Given the description of an element on the screen output the (x, y) to click on. 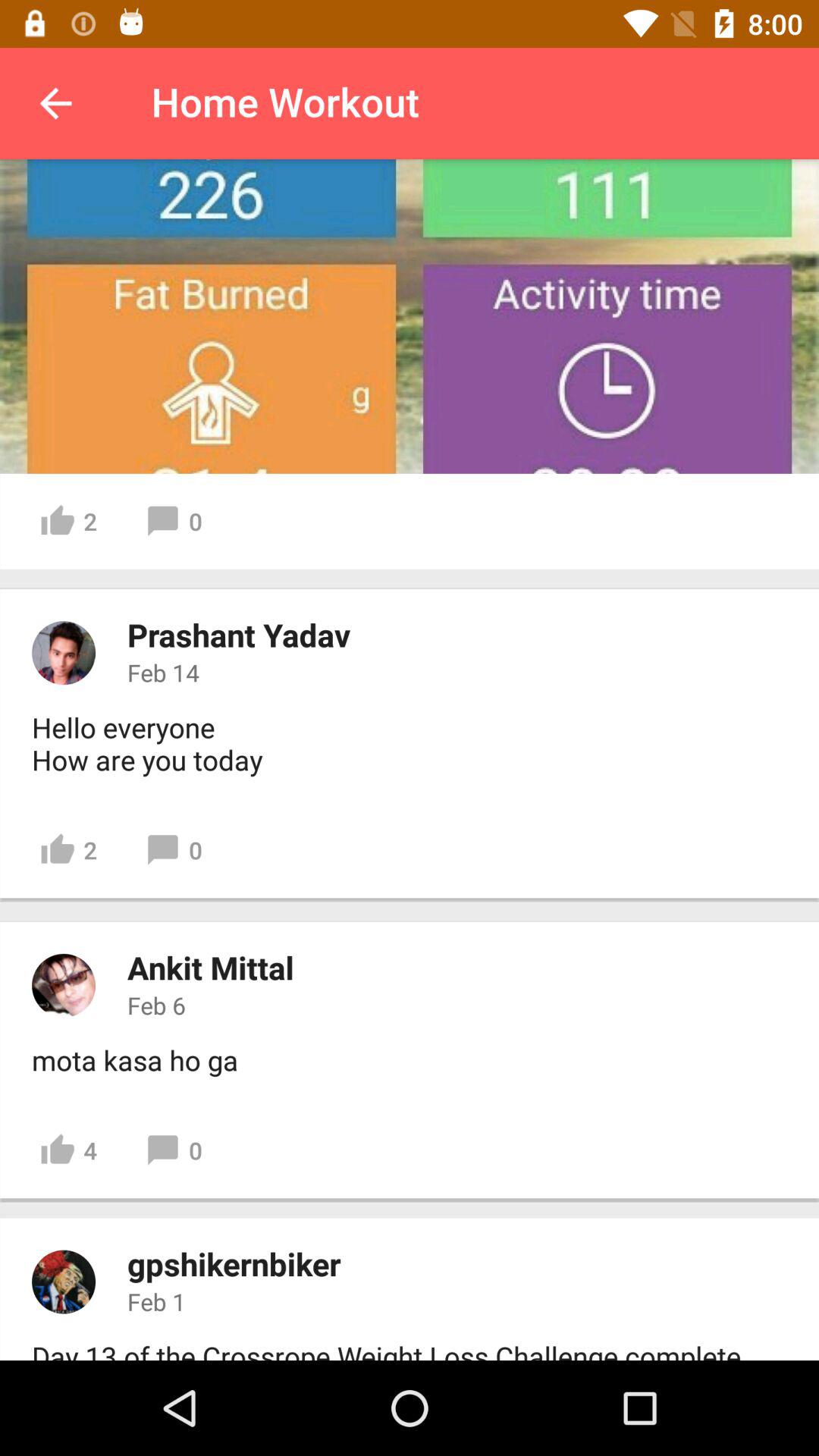
turn off the icon next to 0 item (68, 1150)
